Given the description of an element on the screen output the (x, y) to click on. 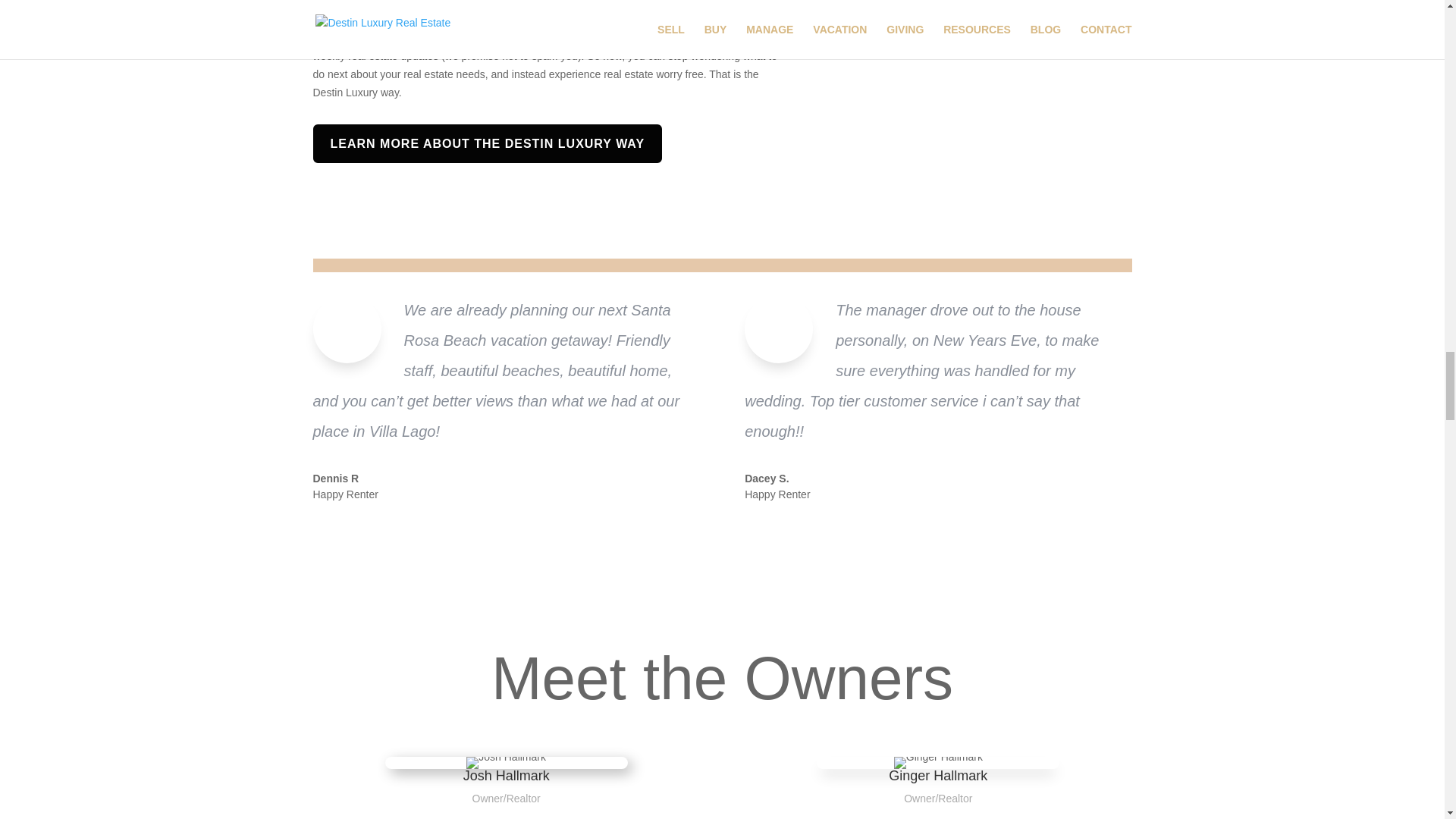
appointment app (440, 37)
qtq80-InEnXb (981, 31)
schedule a quick call. (545, 37)
LEARN MORE ABOUT THE DESTIN LUXURY WAY (487, 143)
